Given the description of an element on the screen output the (x, y) to click on. 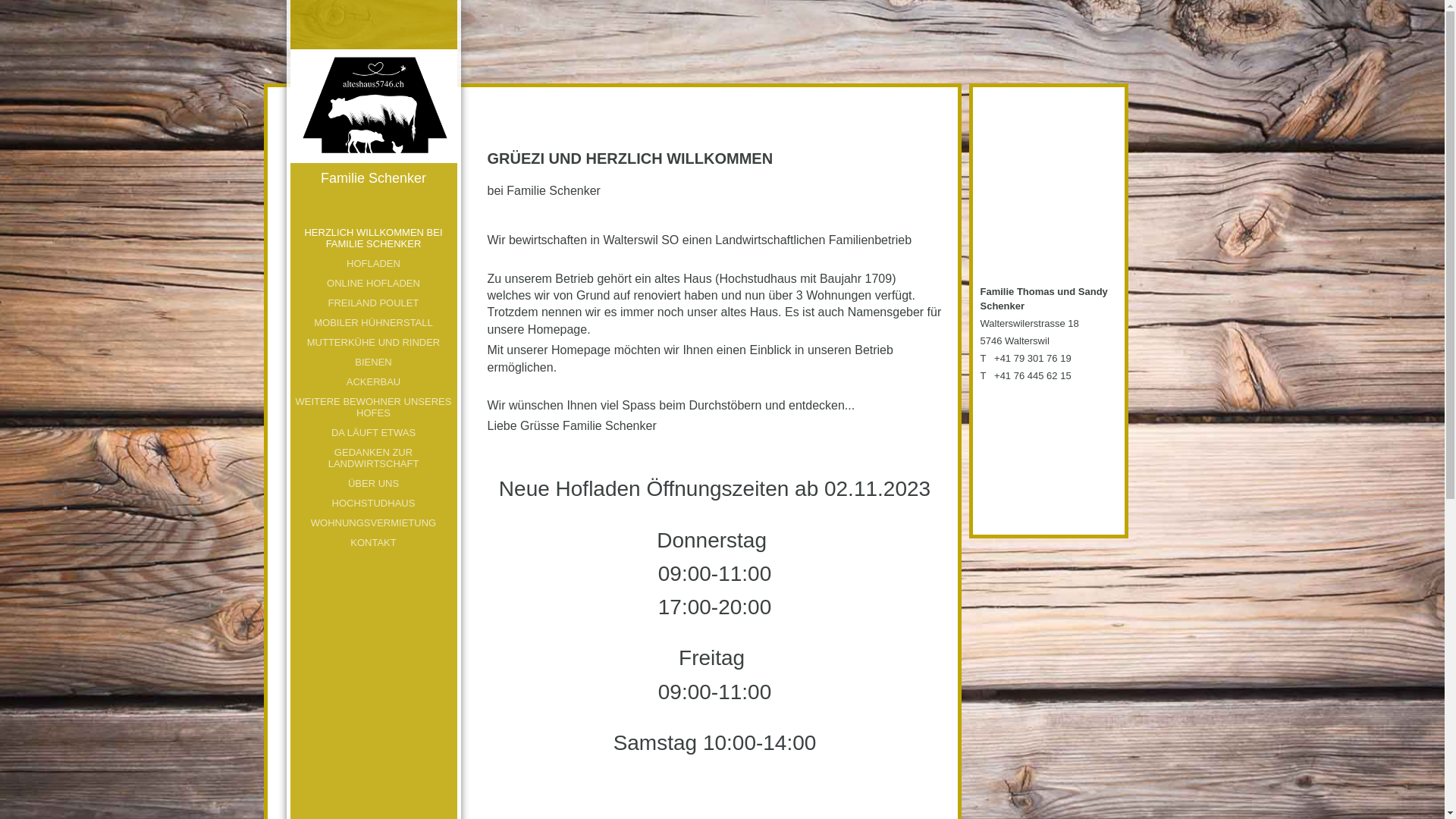
KONTAKT Element type: text (372, 542)
WEITERE BEWOHNER UNSERES HOFES Element type: text (372, 407)
ACKERBAU Element type: text (372, 381)
HOFLADEN Element type: text (372, 263)
FREILAND POULET Element type: text (372, 302)
WOHNUNGSVERMIETUNG Element type: text (372, 522)
BIENEN Element type: text (372, 361)
HOCHSTUDHAUS Element type: text (372, 502)
GEDANKEN ZUR LANDWIRTSCHAFT Element type: text (372, 457)
ONLINE HOFLADEN Element type: text (372, 282)
HERZLICH WILLKOMMEN BEI FAMILIE SCHENKER Element type: text (372, 237)
